Given the description of an element on the screen output the (x, y) to click on. 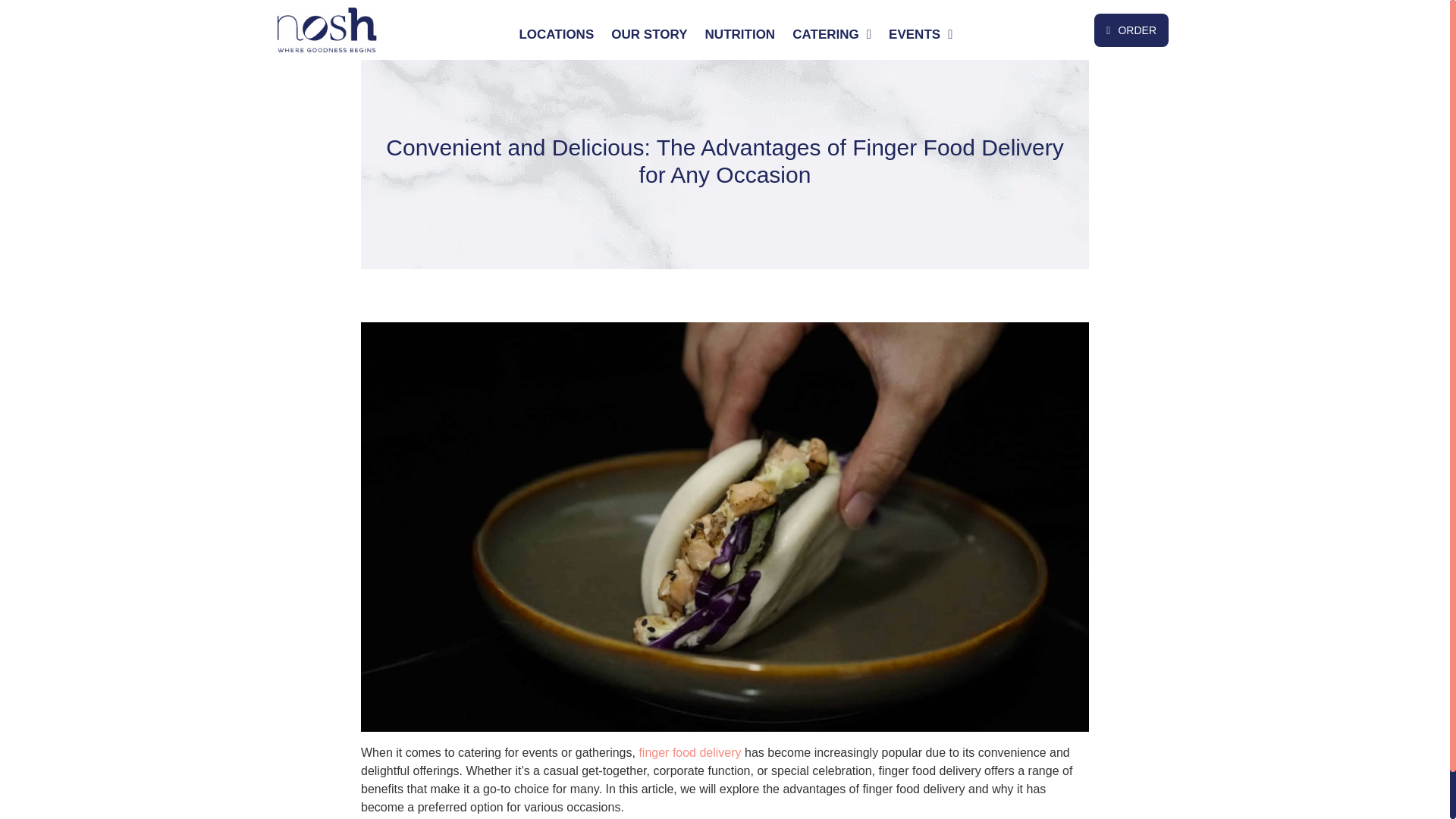
ORDER (1131, 29)
EVENTS (920, 34)
NUTRITION (740, 34)
OUR STORY (649, 34)
LOCATIONS (555, 34)
CATERING (831, 34)
